Given the description of an element on the screen output the (x, y) to click on. 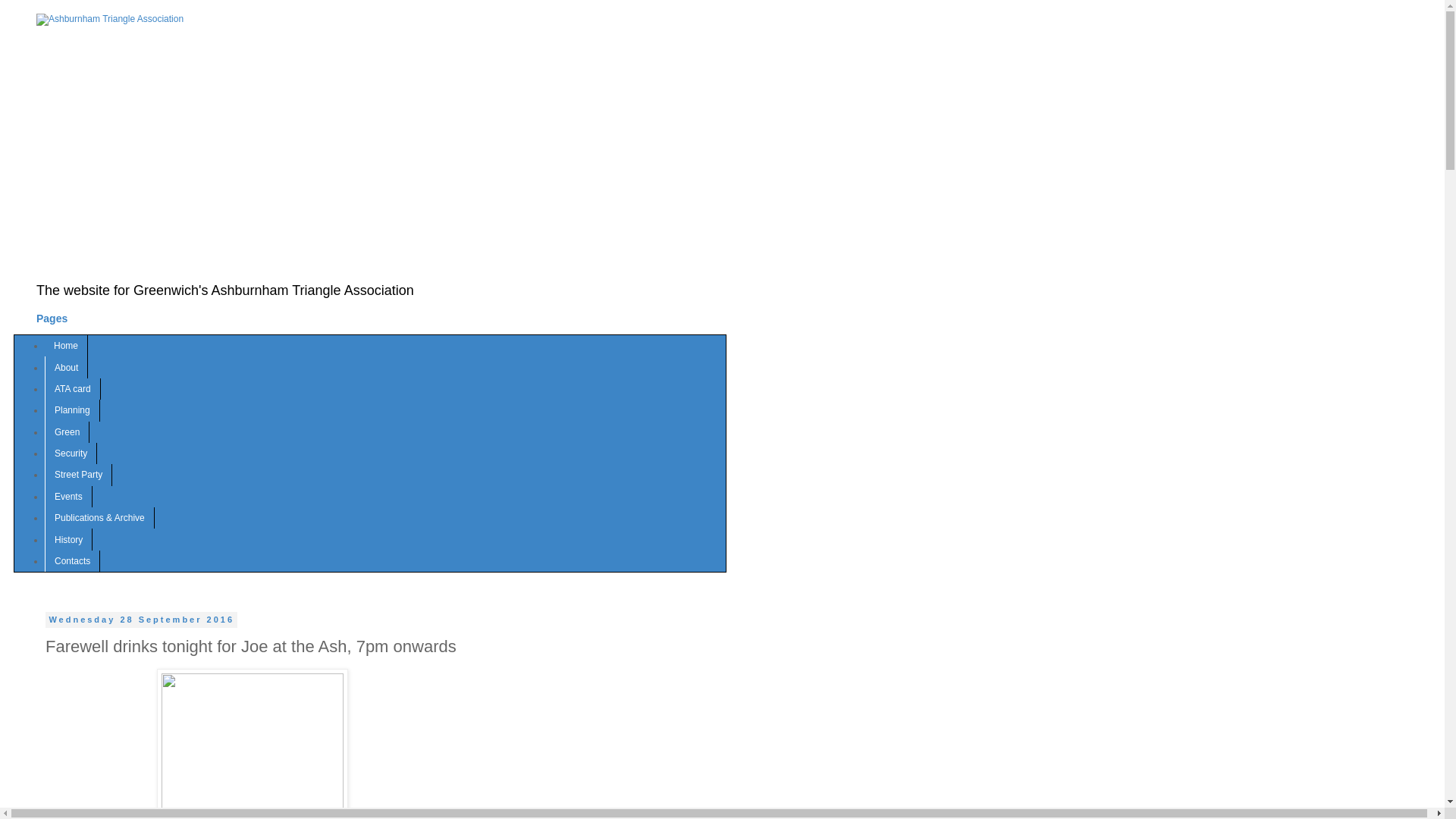
Street Party (78, 474)
About (66, 366)
History (69, 538)
Security (71, 453)
Home (66, 345)
Contacts (72, 560)
ATA card (72, 388)
Green (66, 432)
Planning (72, 409)
Events (69, 496)
